Given the description of an element on the screen output the (x, y) to click on. 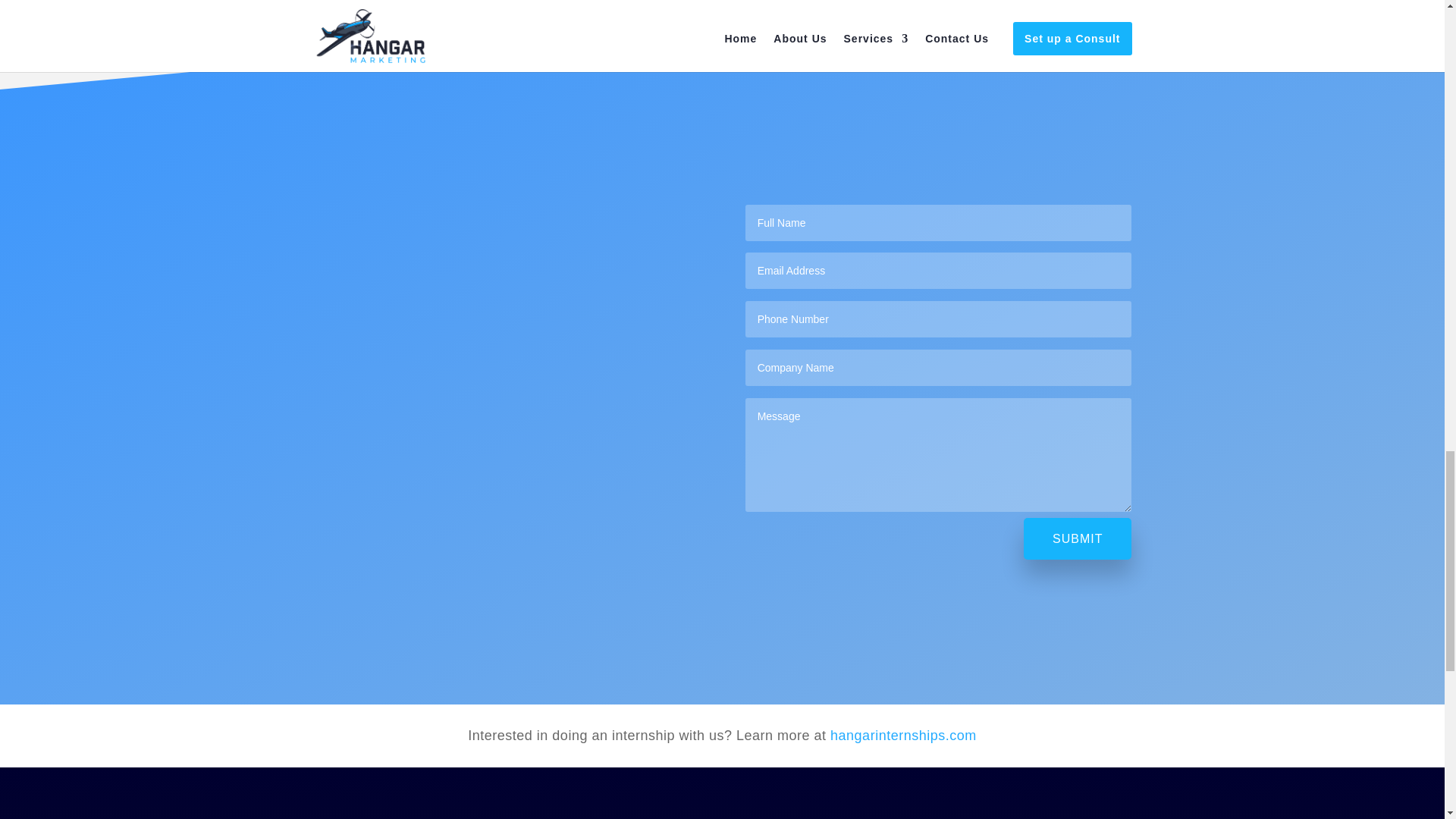
hangarinternships.com (902, 735)
SUBMIT (1077, 538)
